Given the description of an element on the screen output the (x, y) to click on. 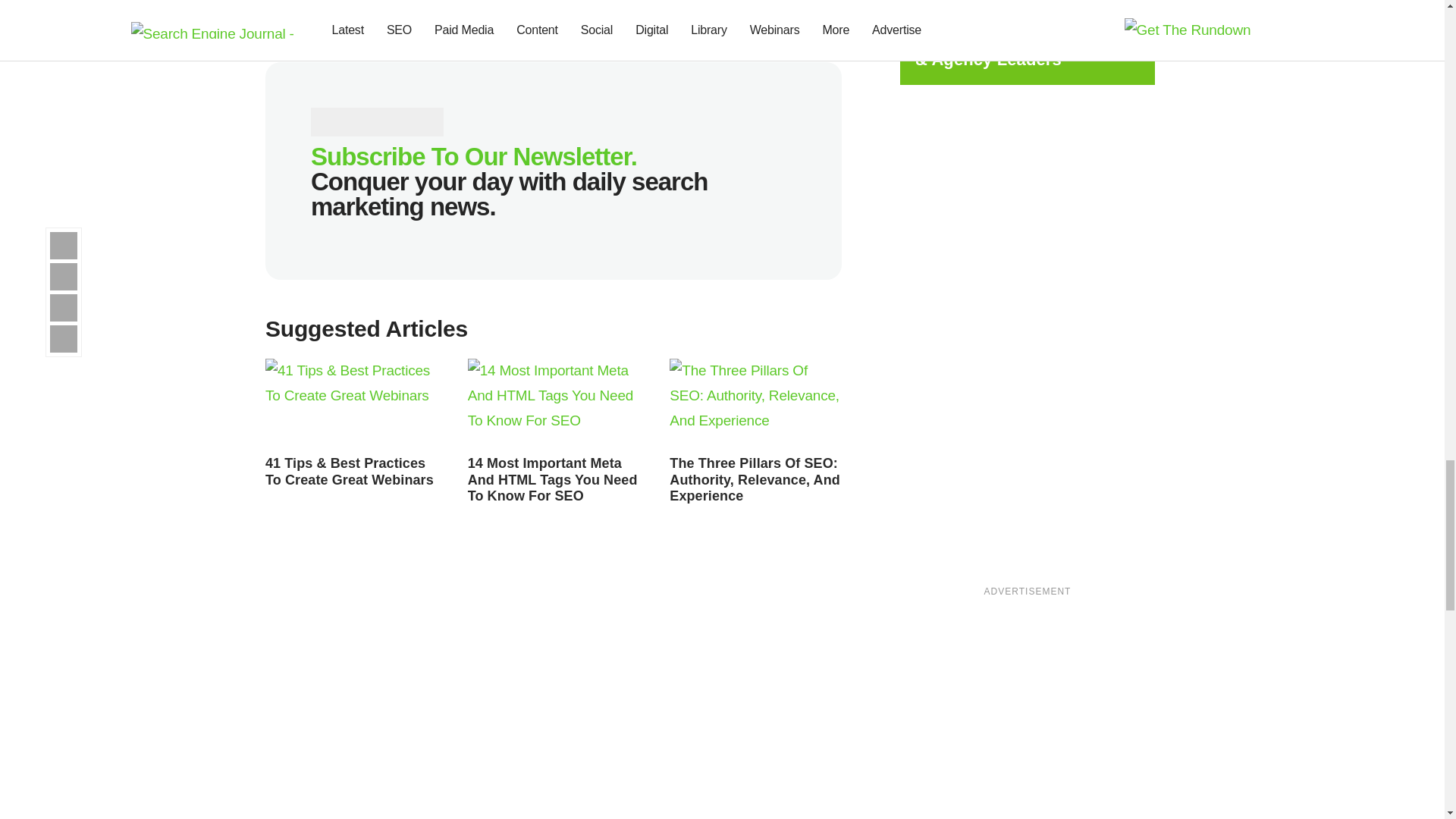
Read the Article (755, 402)
Read the Article (552, 479)
Read the Article (553, 402)
Read the Article (351, 402)
Read the Article (348, 471)
Read the Article (754, 479)
